Given the description of an element on the screen output the (x, y) to click on. 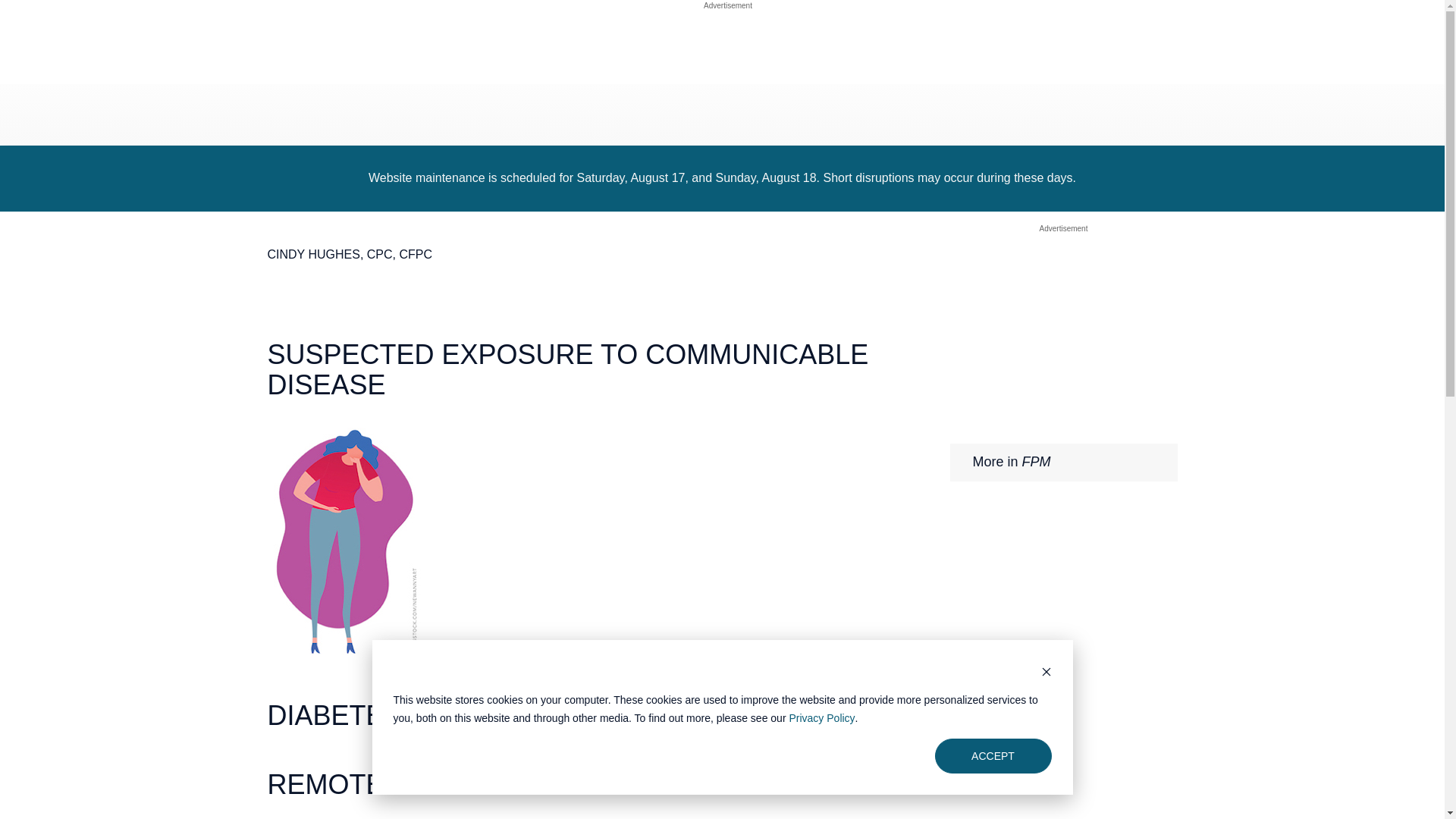
Advertisement (1063, 228)
3rd party ad content (1062, 333)
Advertisement (727, 5)
3rd party ad content (727, 49)
